Given the description of an element on the screen output the (x, y) to click on. 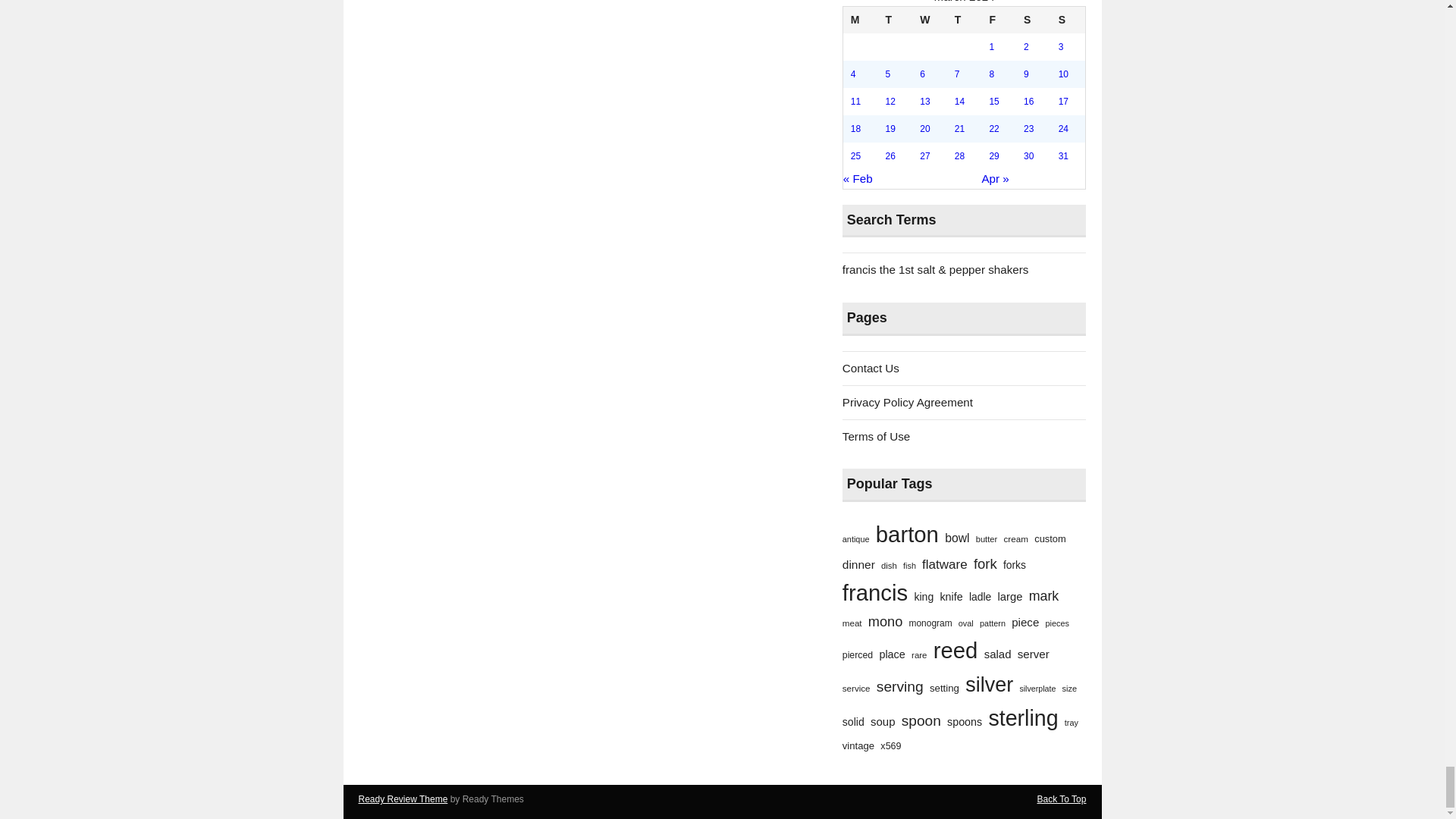
Thursday (964, 20)
Friday (998, 20)
Monday (860, 20)
Tuesday (894, 20)
Saturday (1033, 20)
Sunday (1068, 20)
Back To Top (1061, 798)
Wednesday (929, 20)
